Given the description of an element on the screen output the (x, y) to click on. 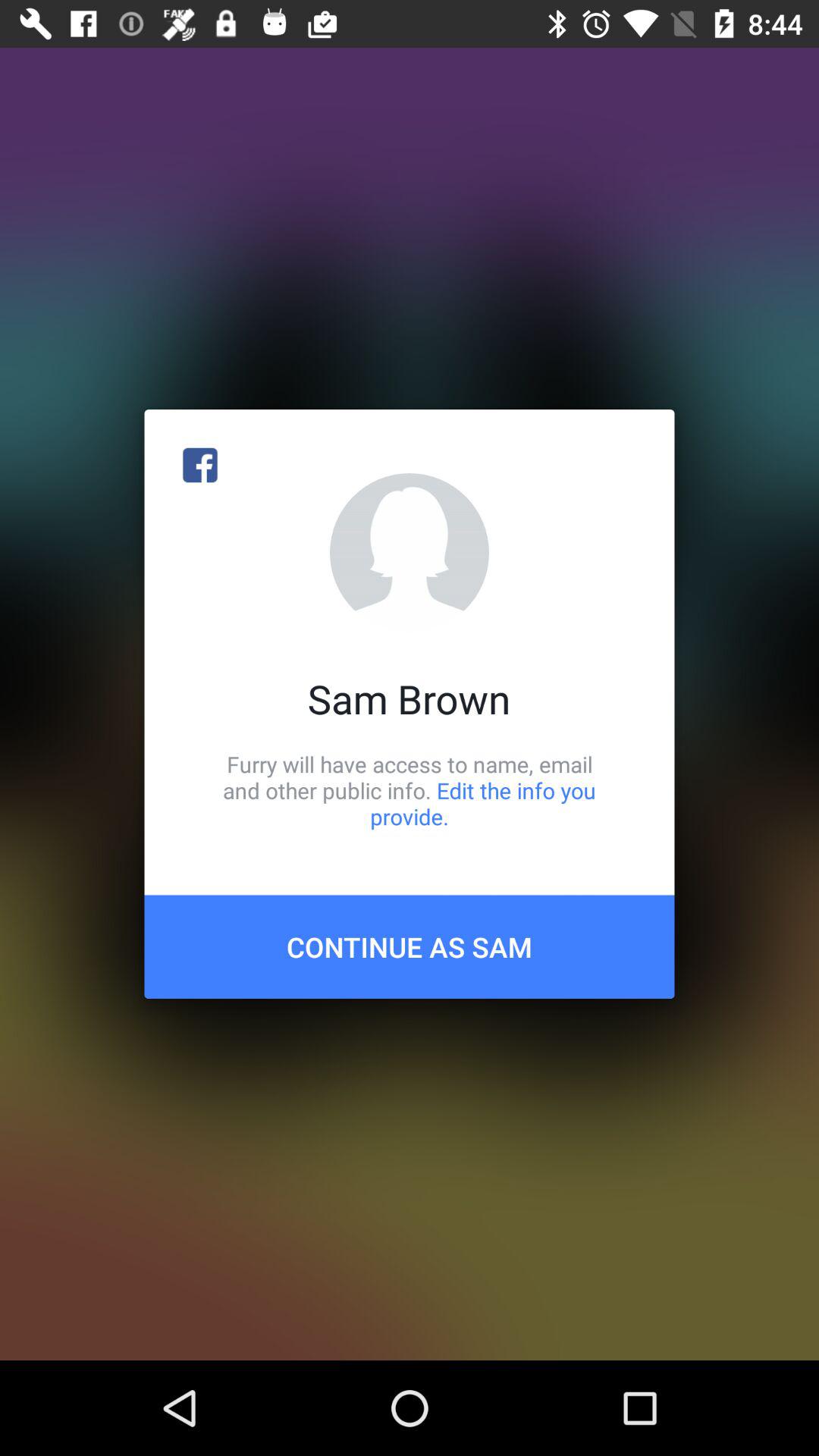
scroll to furry will have (409, 790)
